Given the description of an element on the screen output the (x, y) to click on. 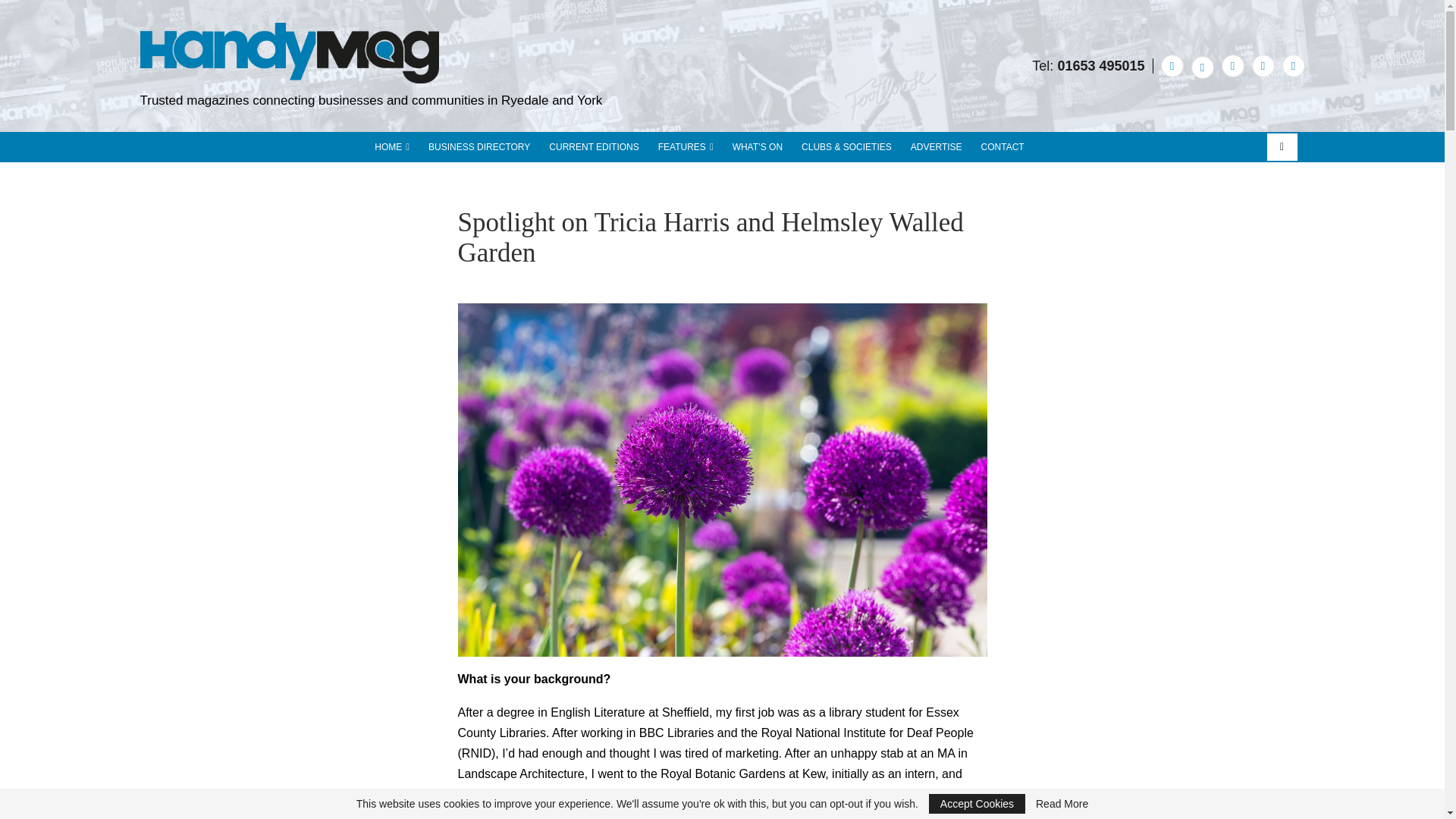
FEATURES (685, 146)
HOME (391, 146)
BUSINESS DIRECTORY (478, 146)
CONTACT (1003, 146)
ADVERTISE (936, 146)
CURRENT EDITIONS (593, 146)
